Given the description of an element on the screen output the (x, y) to click on. 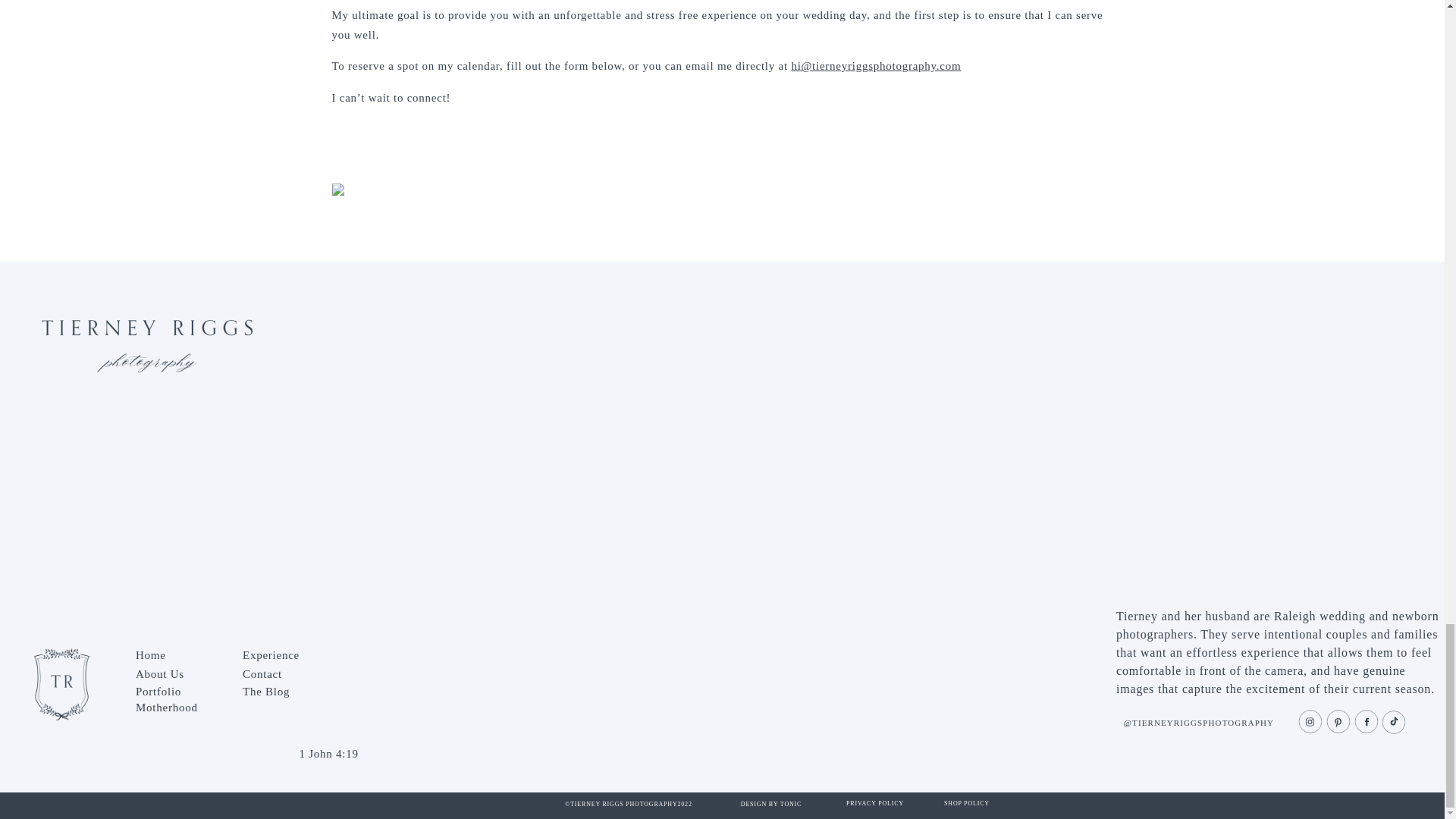
About Us (178, 669)
Home (178, 650)
PRIVACY POLICY (875, 806)
The Blog (286, 686)
Portfolio (178, 686)
SHOP POLICY (967, 806)
Motherhood (178, 703)
Contact (286, 669)
Experience (286, 650)
DESIGN BY TONIC (770, 807)
